Given the description of an element on the screen output the (x, y) to click on. 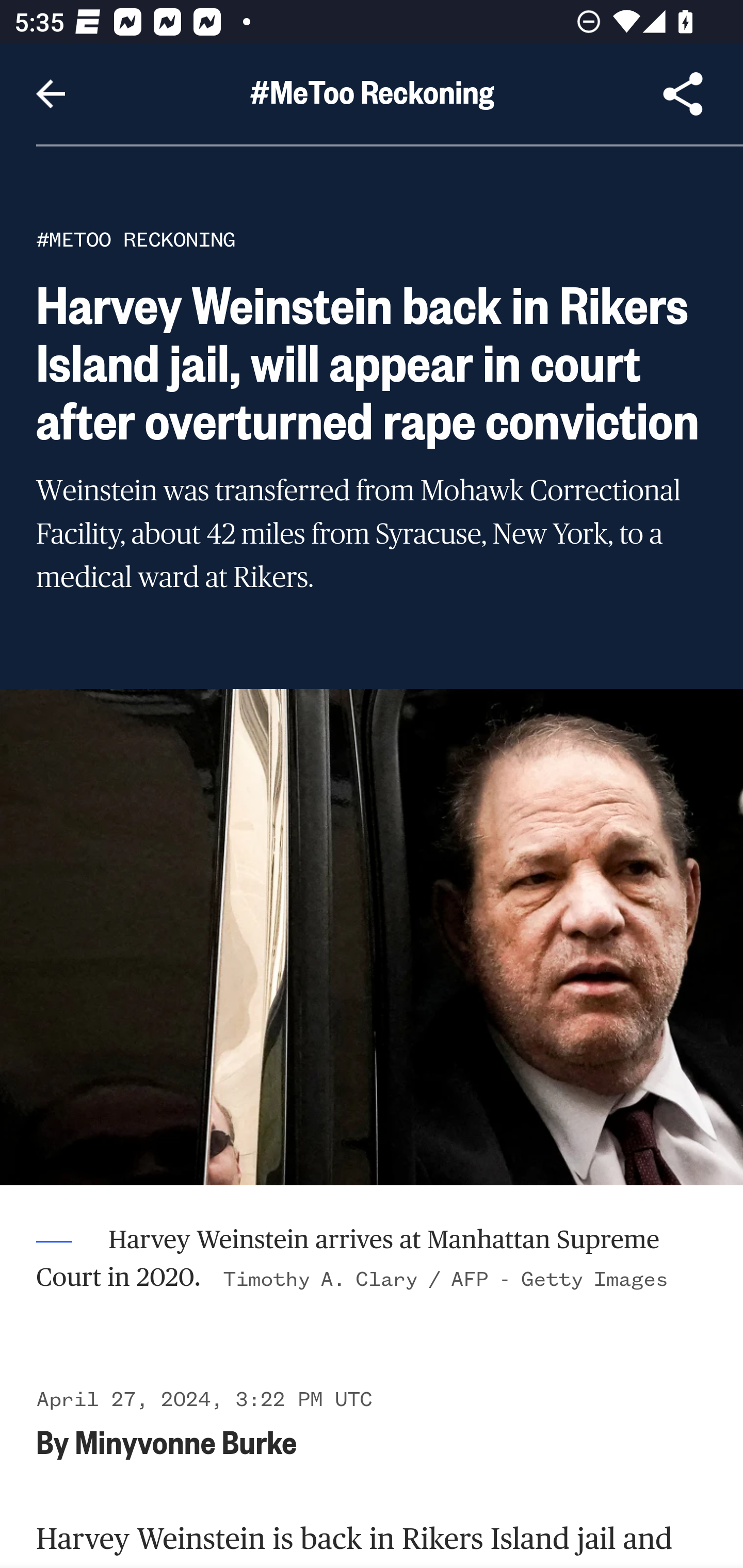
Navigate up (50, 93)
Share Article, button (683, 94)
